Given the description of an element on the screen output the (x, y) to click on. 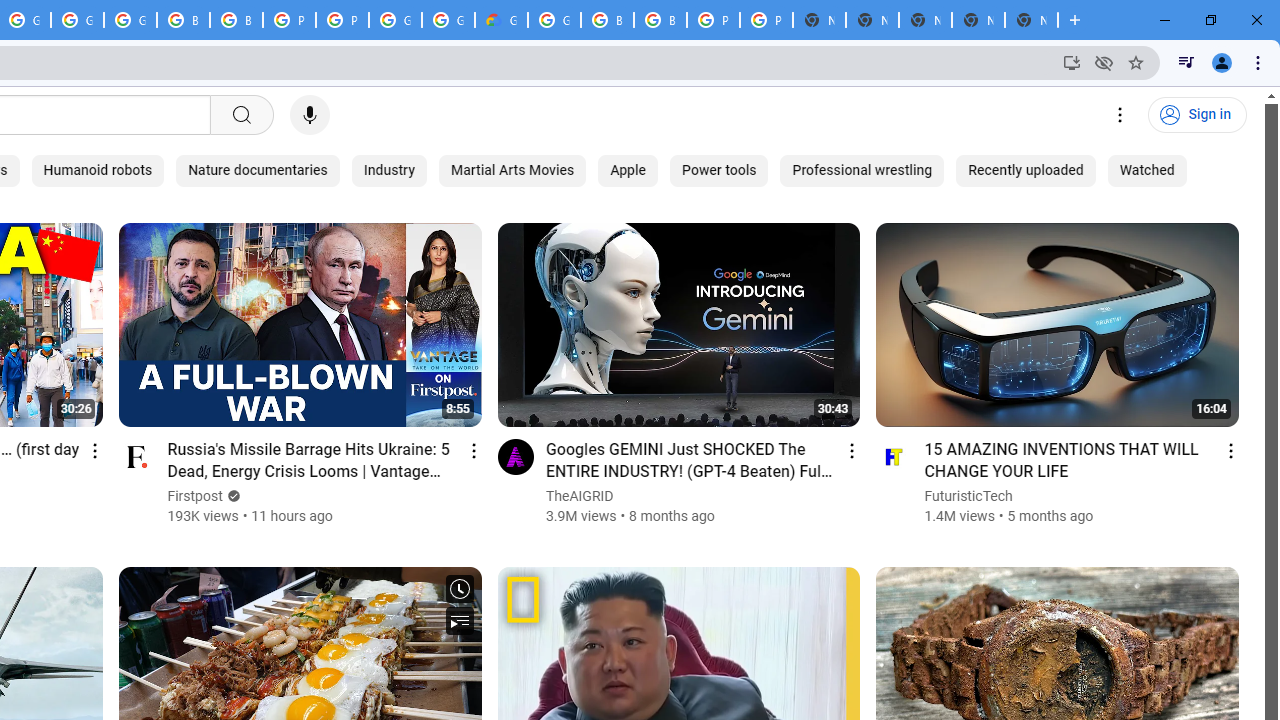
Browse Chrome as a guest - Computer - Google Chrome Help (660, 20)
